Given the description of an element on the screen output the (x, y) to click on. 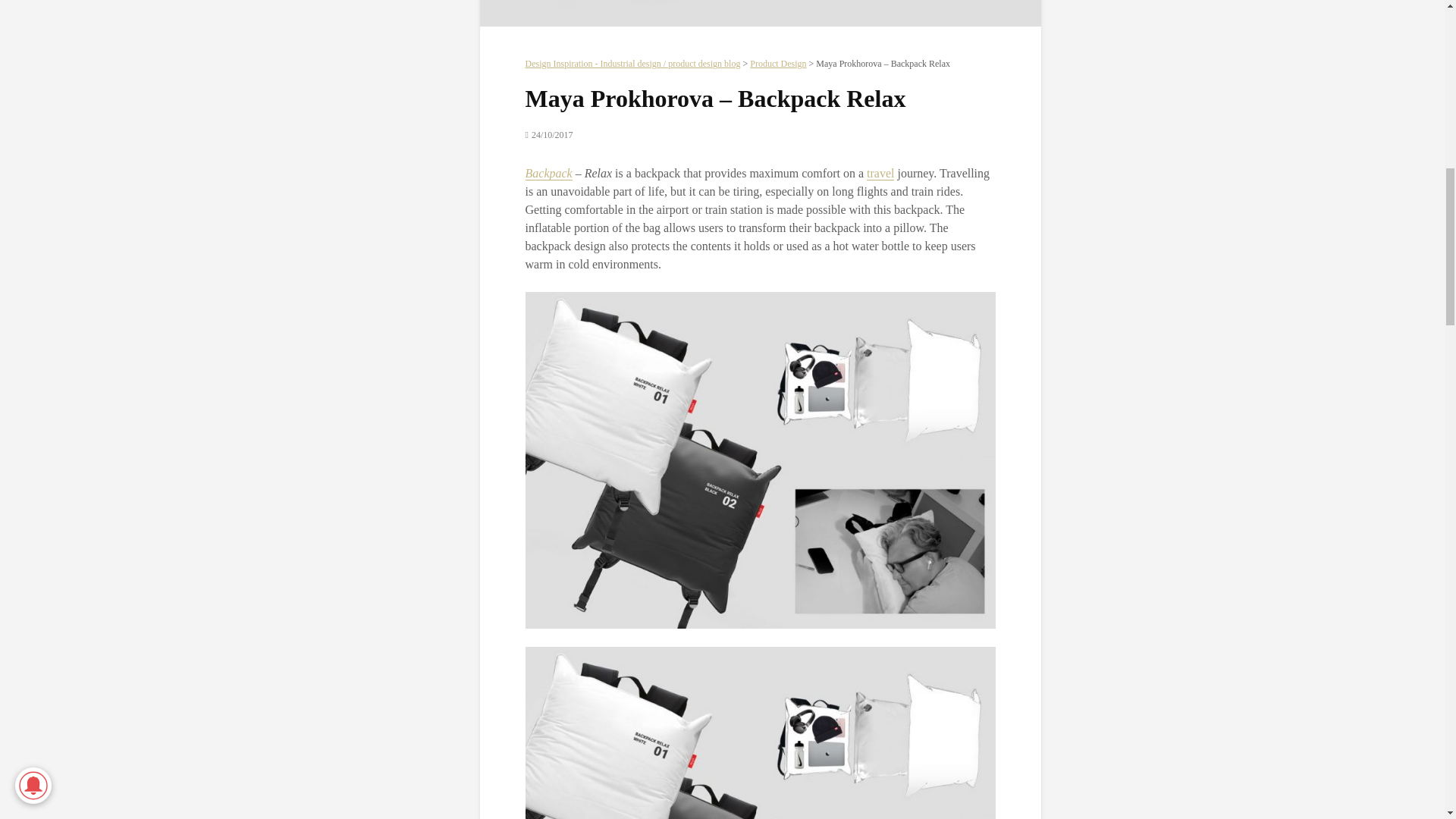
Go to the Product Design category archives. (777, 63)
